Given the description of an element on the screen output the (x, y) to click on. 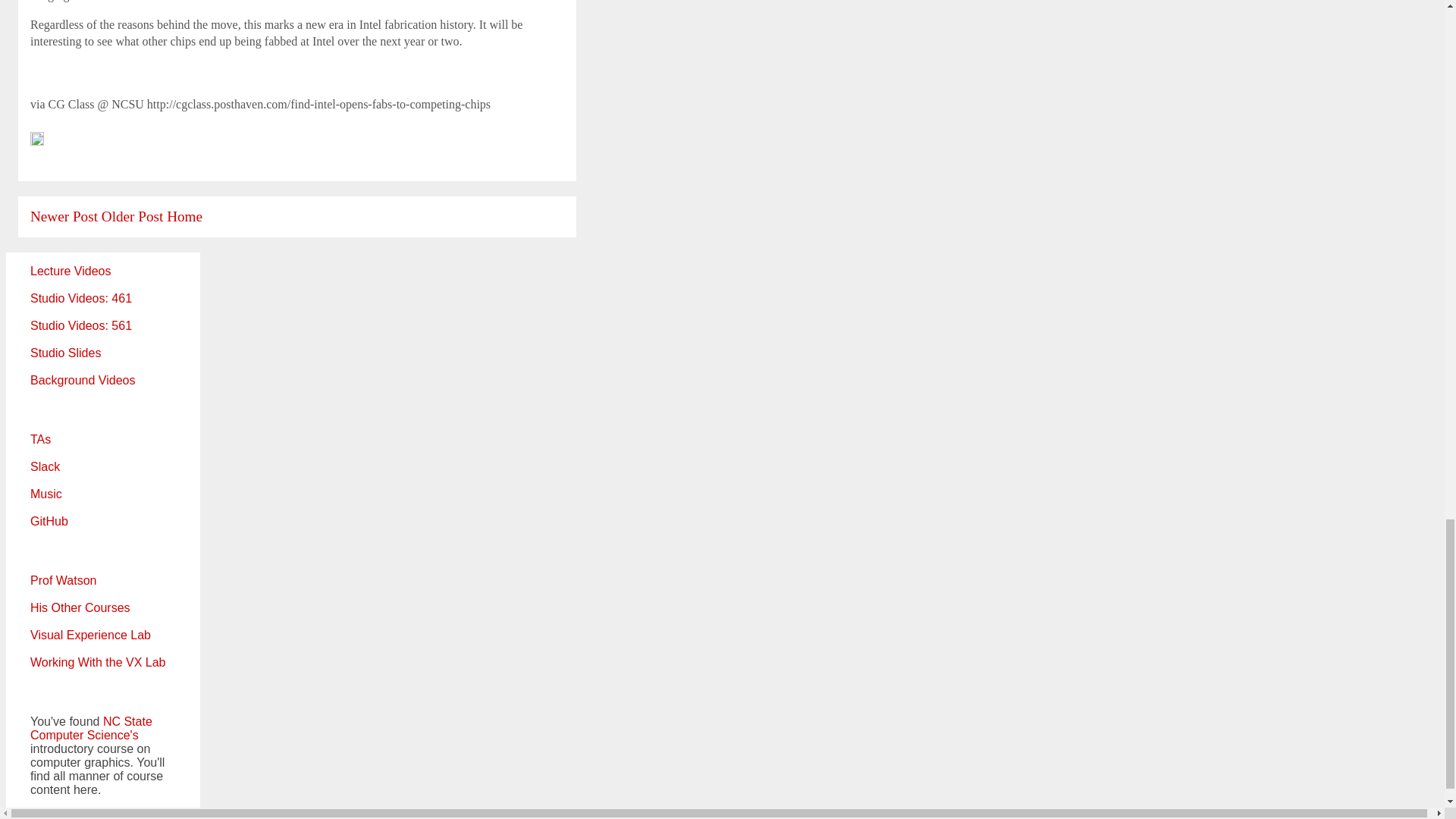
Visual Experience Lab (90, 634)
Background Videos (82, 379)
Edit Post (36, 141)
Lecture Videos (70, 270)
Studio Videos: 461 (81, 297)
Older Post (132, 216)
Working With the VX Lab (97, 662)
NC State (127, 721)
Older Post (132, 216)
Studio Videos: 561 (81, 325)
Newer Post (63, 216)
Prof Watson (63, 580)
GitHub (49, 521)
Computer Science's (84, 735)
TAs (40, 439)
